Given the description of an element on the screen output the (x, y) to click on. 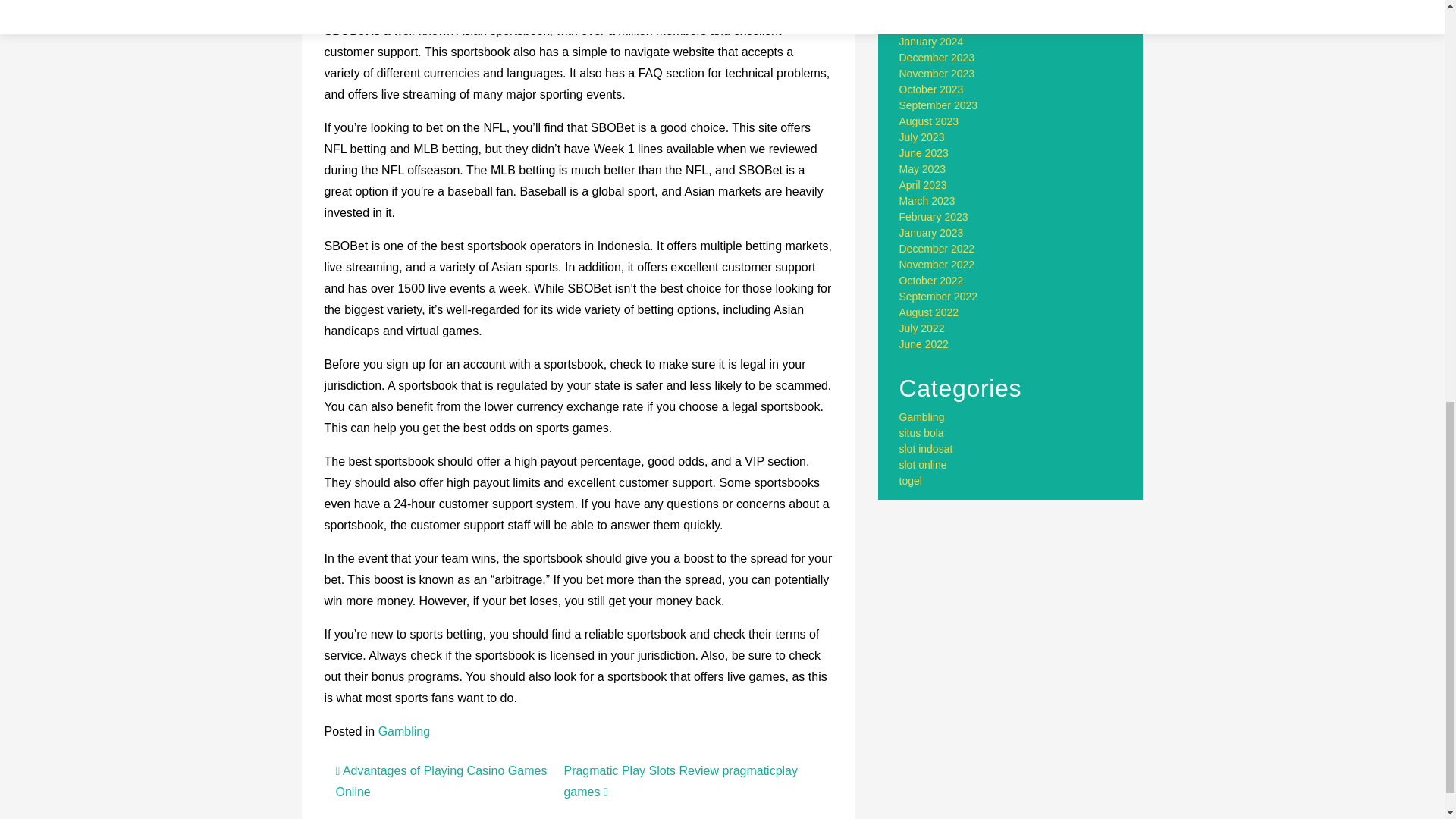
September 2022 (938, 296)
January 2023 (931, 232)
July 2023 (921, 137)
June 2023 (924, 152)
 Advantages of Playing Casino Games Online (440, 781)
Gambling (403, 730)
February 2023 (933, 216)
March 2024 (927, 9)
June 2022 (924, 344)
October 2023 (931, 89)
March 2023 (927, 200)
September 2023 (938, 105)
December 2022 (937, 248)
July 2022 (921, 328)
November 2023 (937, 73)
